Given the description of an element on the screen output the (x, y) to click on. 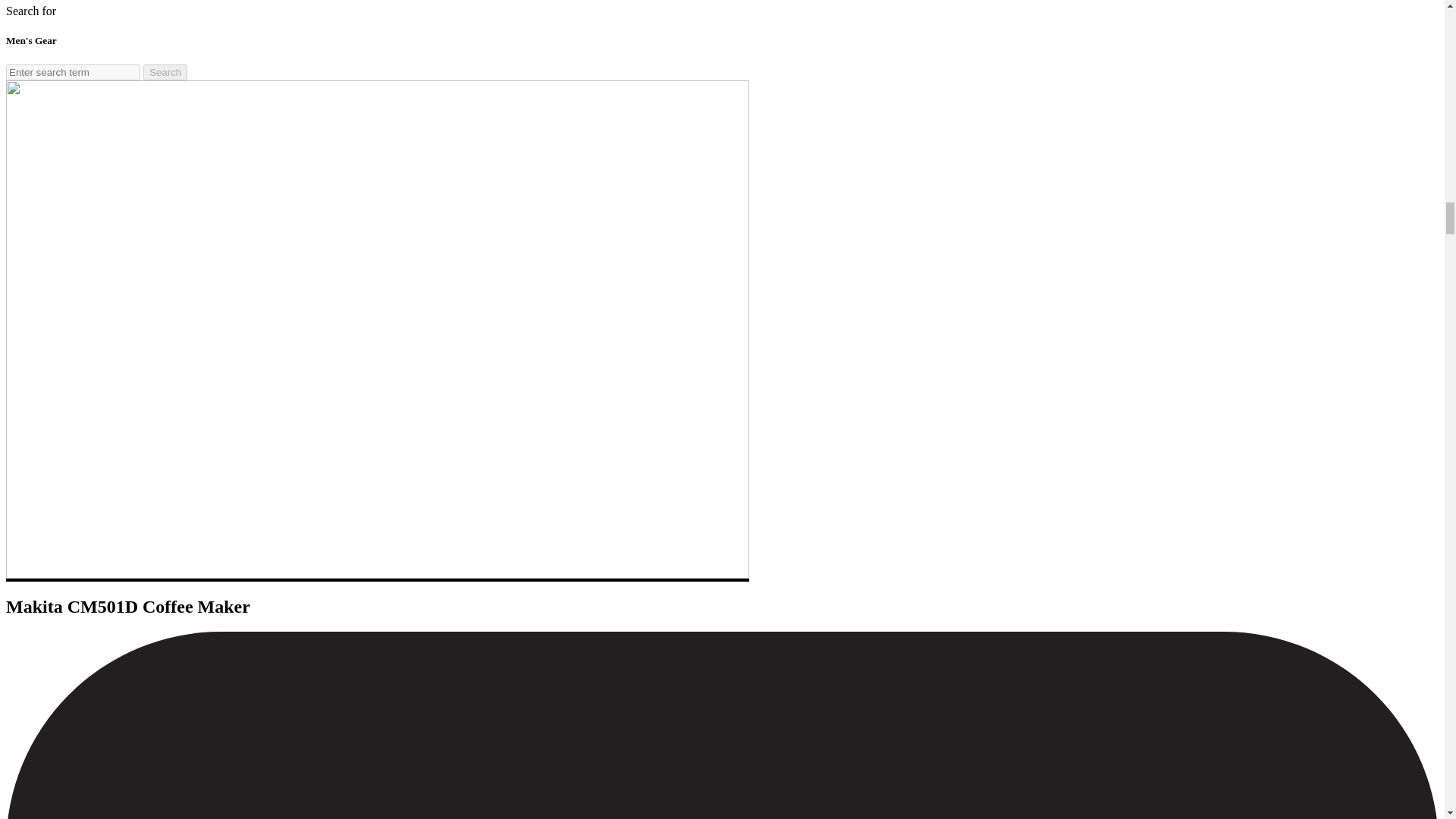
Search (164, 72)
